Given the description of an element on the screen output the (x, y) to click on. 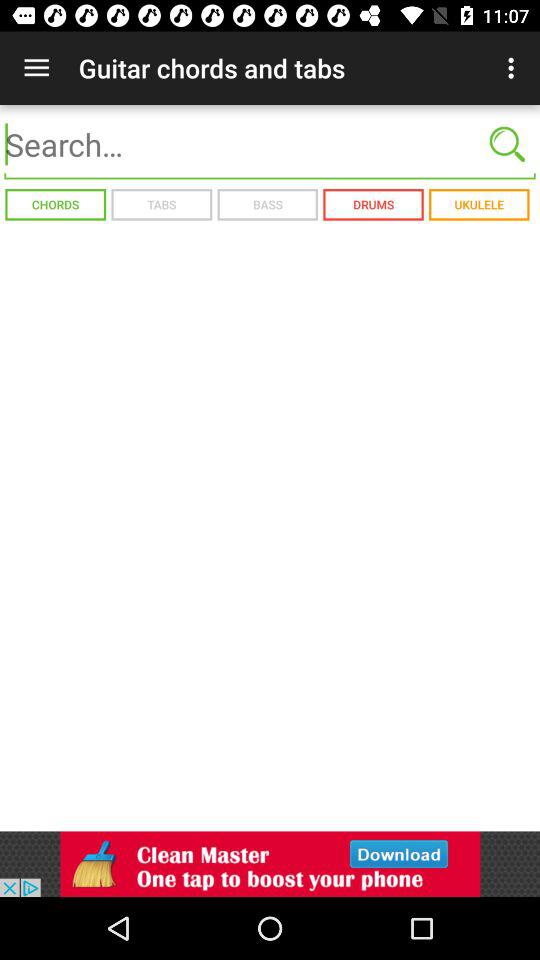
advertising and advertisers (270, 864)
